Given the description of an element on the screen output the (x, y) to click on. 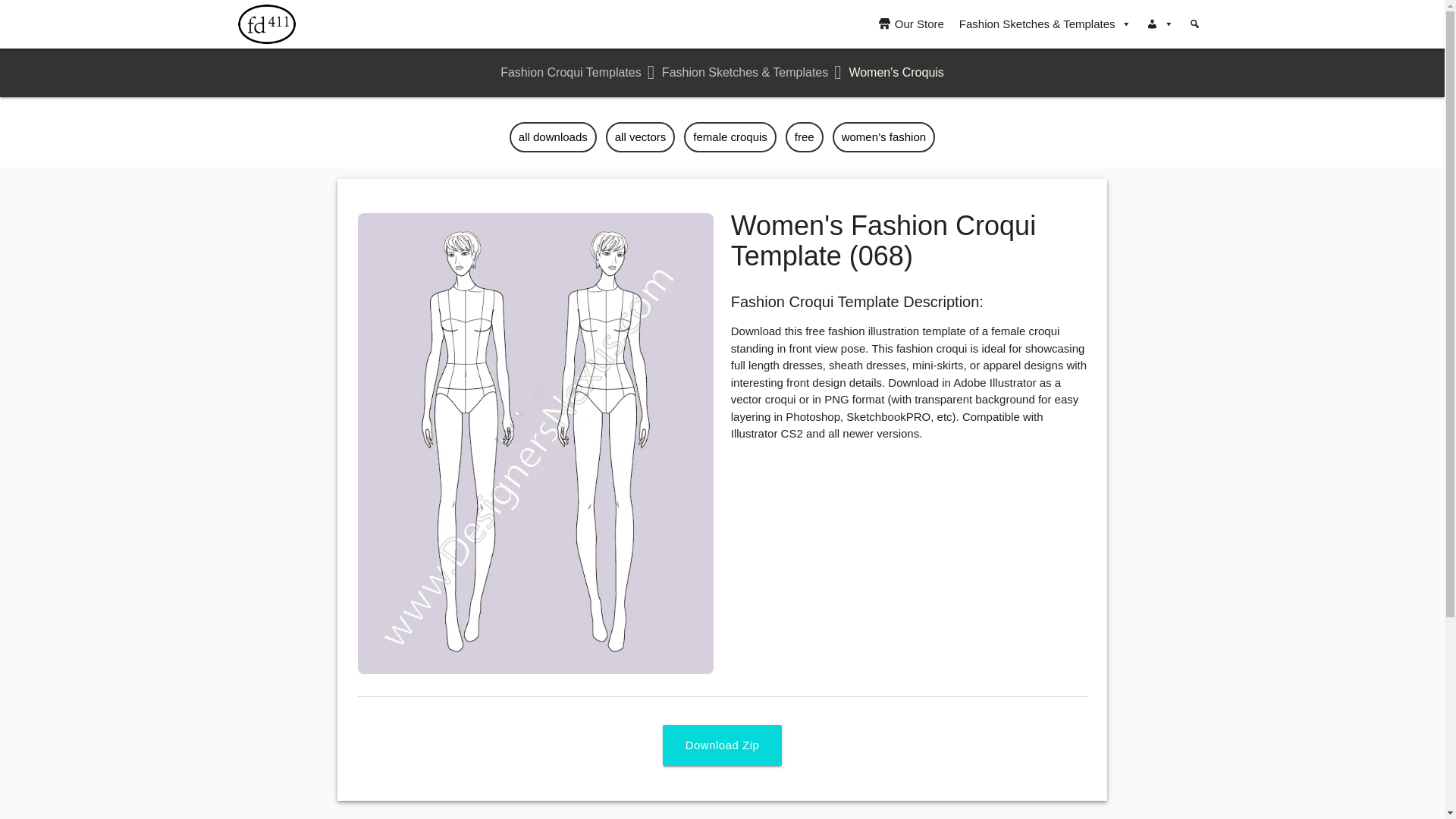
all downloads (552, 137)
Fashion Croqui Templates (571, 72)
all vectors (640, 137)
free (805, 137)
Women's Croquis (885, 72)
Log Me In (208, 349)
female croquis (730, 137)
Our Store (911, 24)
